Given the description of an element on the screen output the (x, y) to click on. 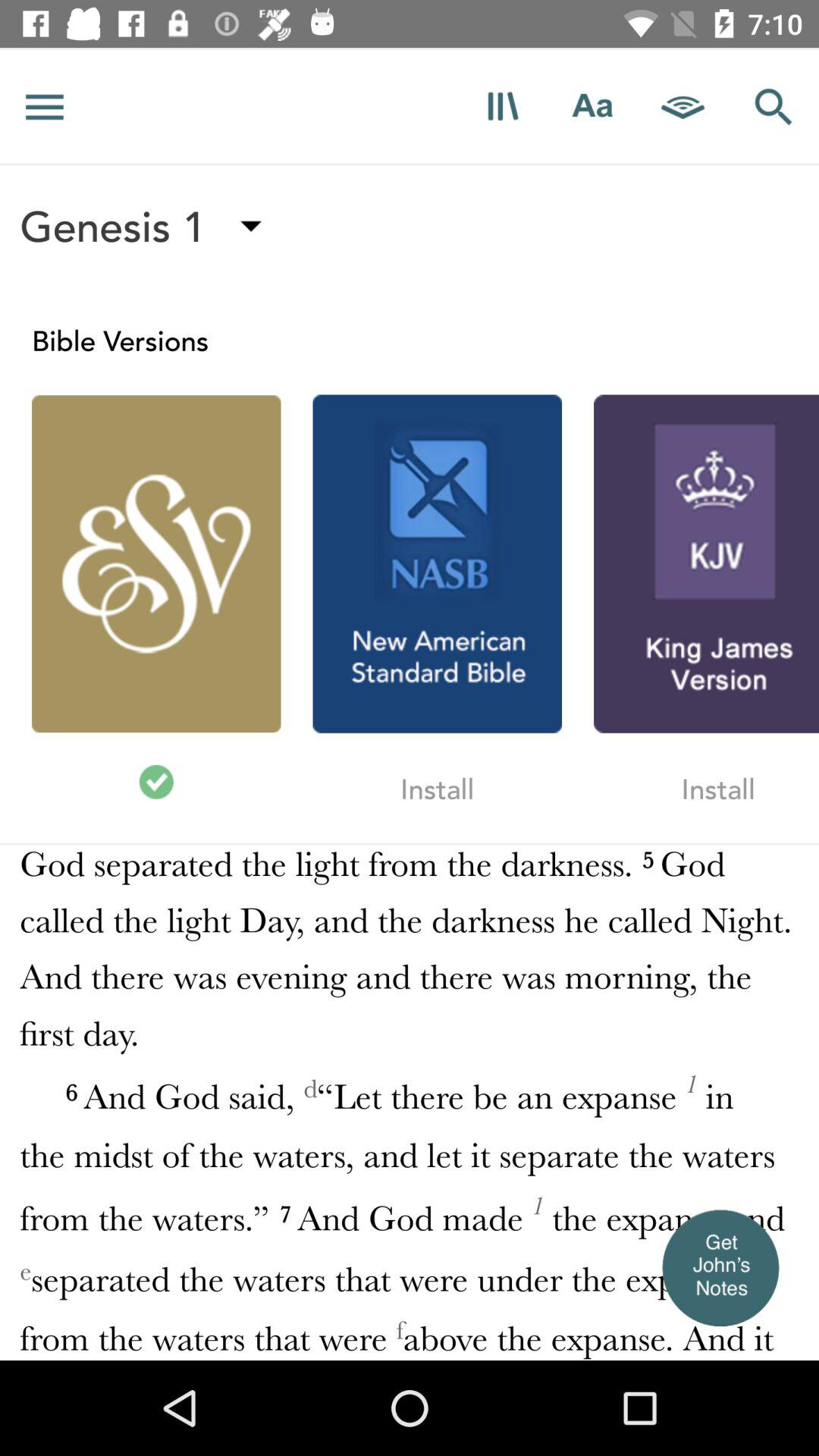
click on icon (502, 106)
